Given the description of an element on the screen output the (x, y) to click on. 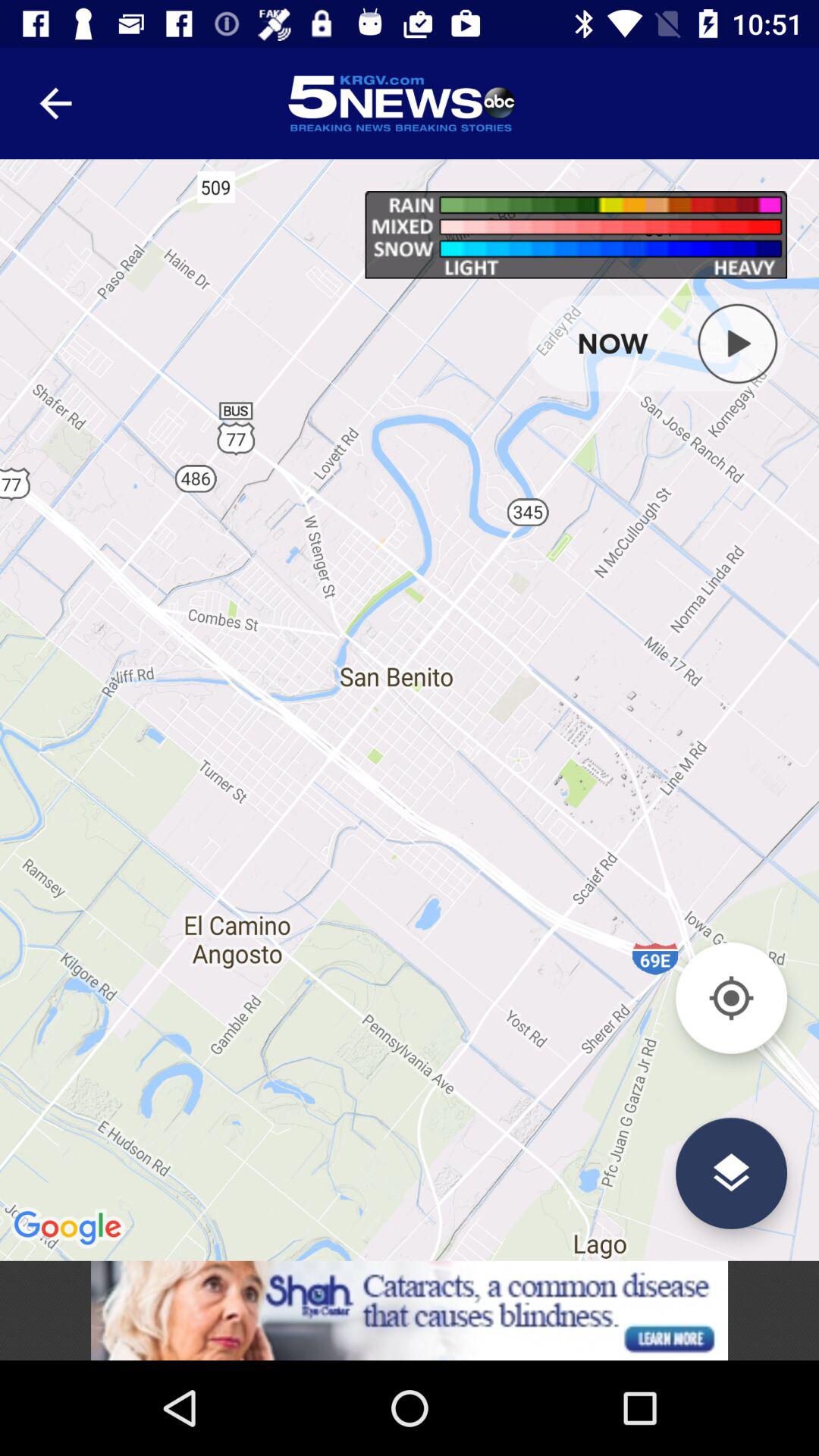
locate me button (731, 997)
